Given the description of an element on the screen output the (x, y) to click on. 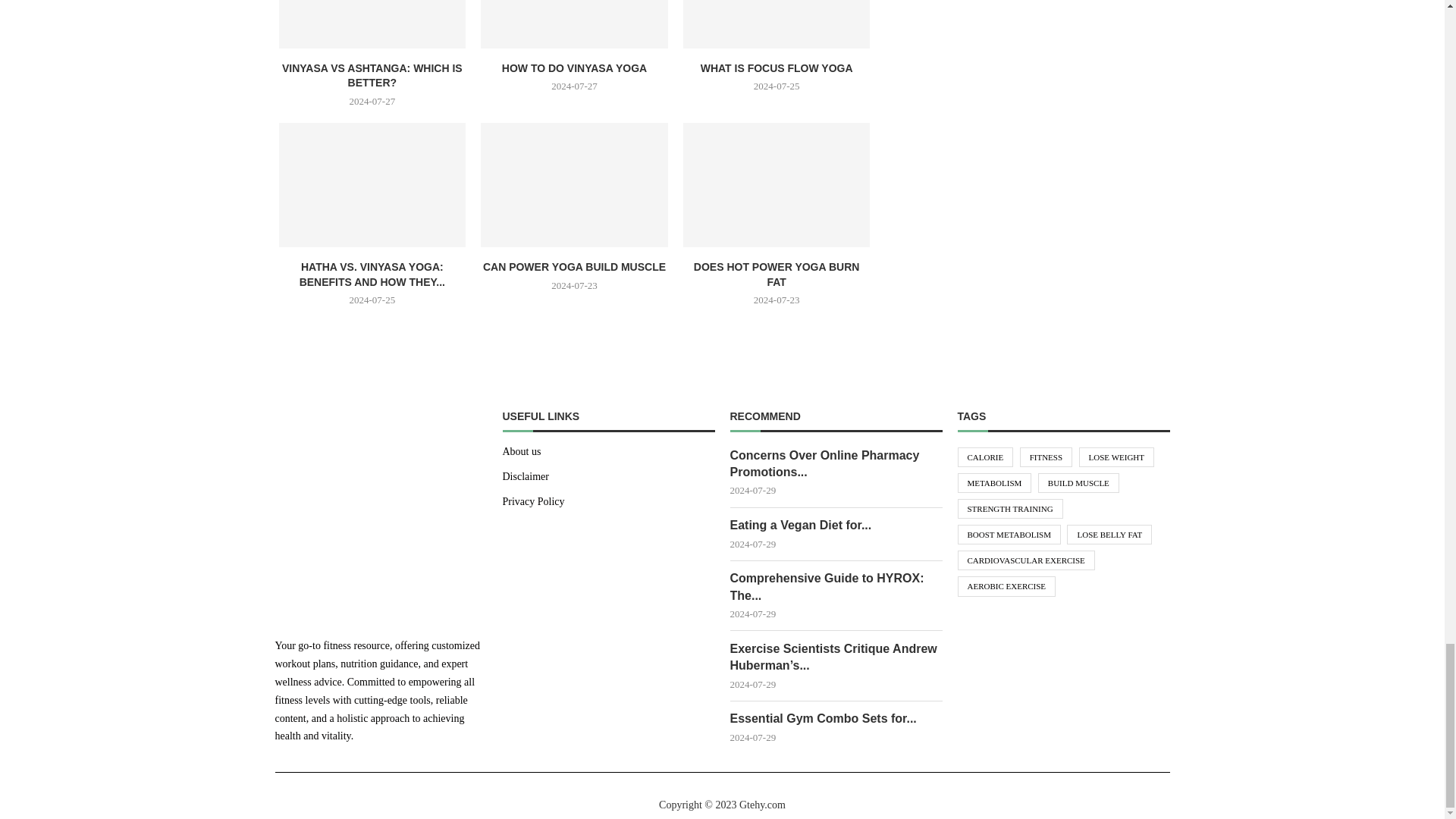
What Is Focus Flow Yoga (776, 23)
Hatha Vs. Vinyasa Yoga: Benefits And How They Differ (372, 184)
Does Hot Power Yoga Burn Fat (776, 184)
Vinyasa Vs Ashtanga: Which Is Better? (372, 23)
How To Do Vinyasa Yoga (574, 23)
Can Power Yoga Build Muscle (574, 184)
